Given the description of an element on the screen output the (x, y) to click on. 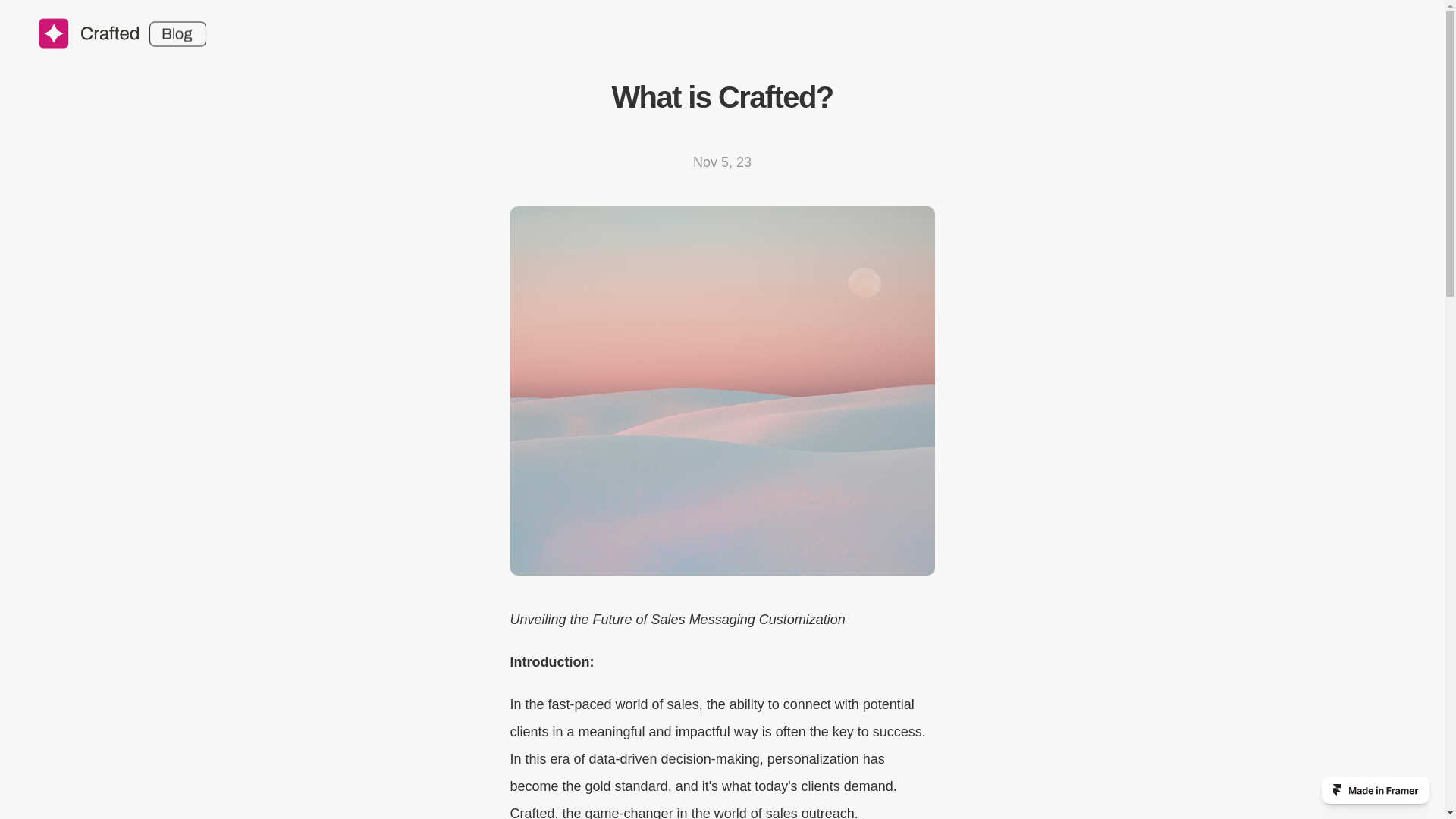
Custom website builder for designers, agencies and startups. (1375, 789)
